Given the description of an element on the screen output the (x, y) to click on. 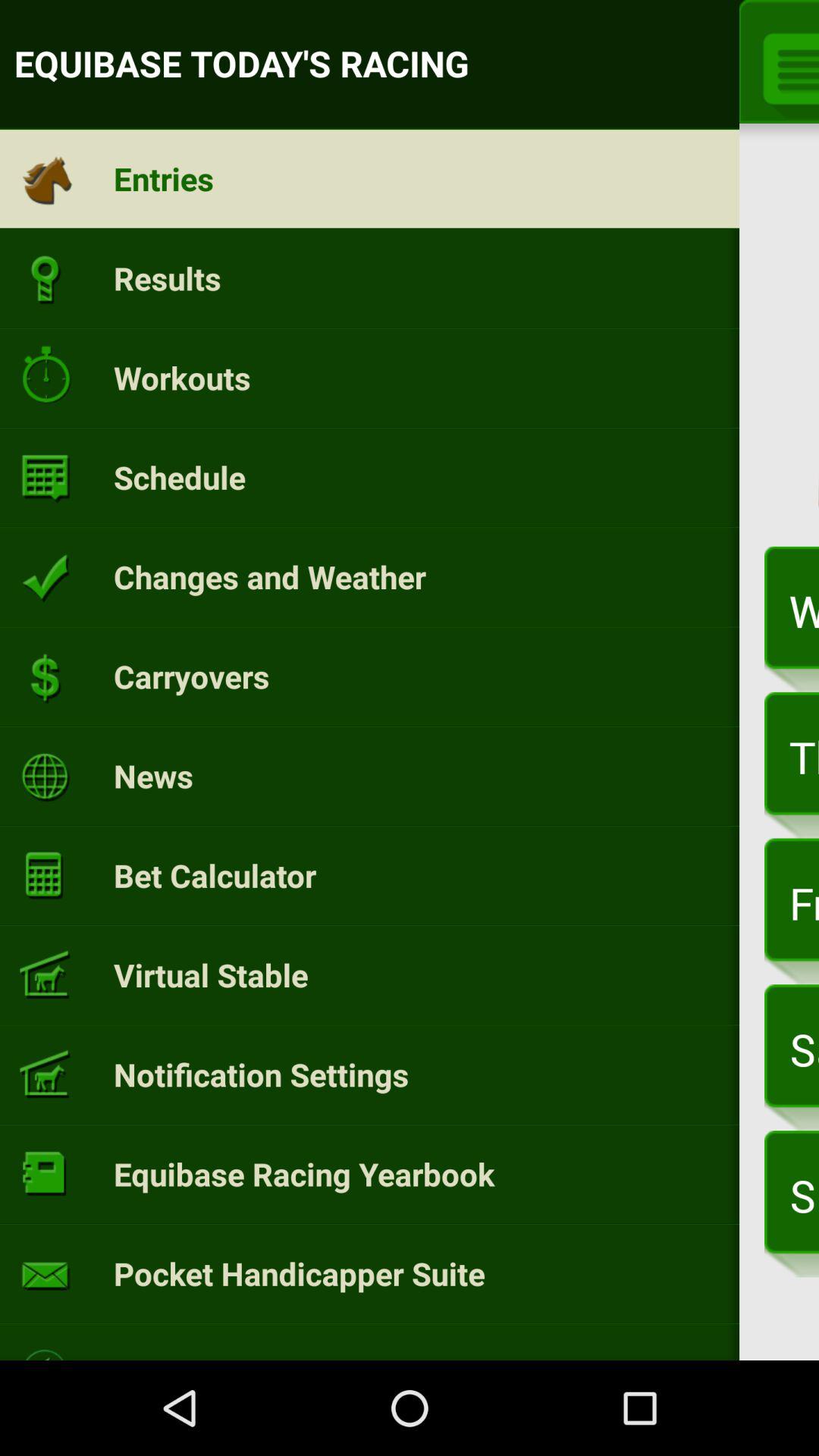
select app next to today item (818, 341)
